Given the description of an element on the screen output the (x, y) to click on. 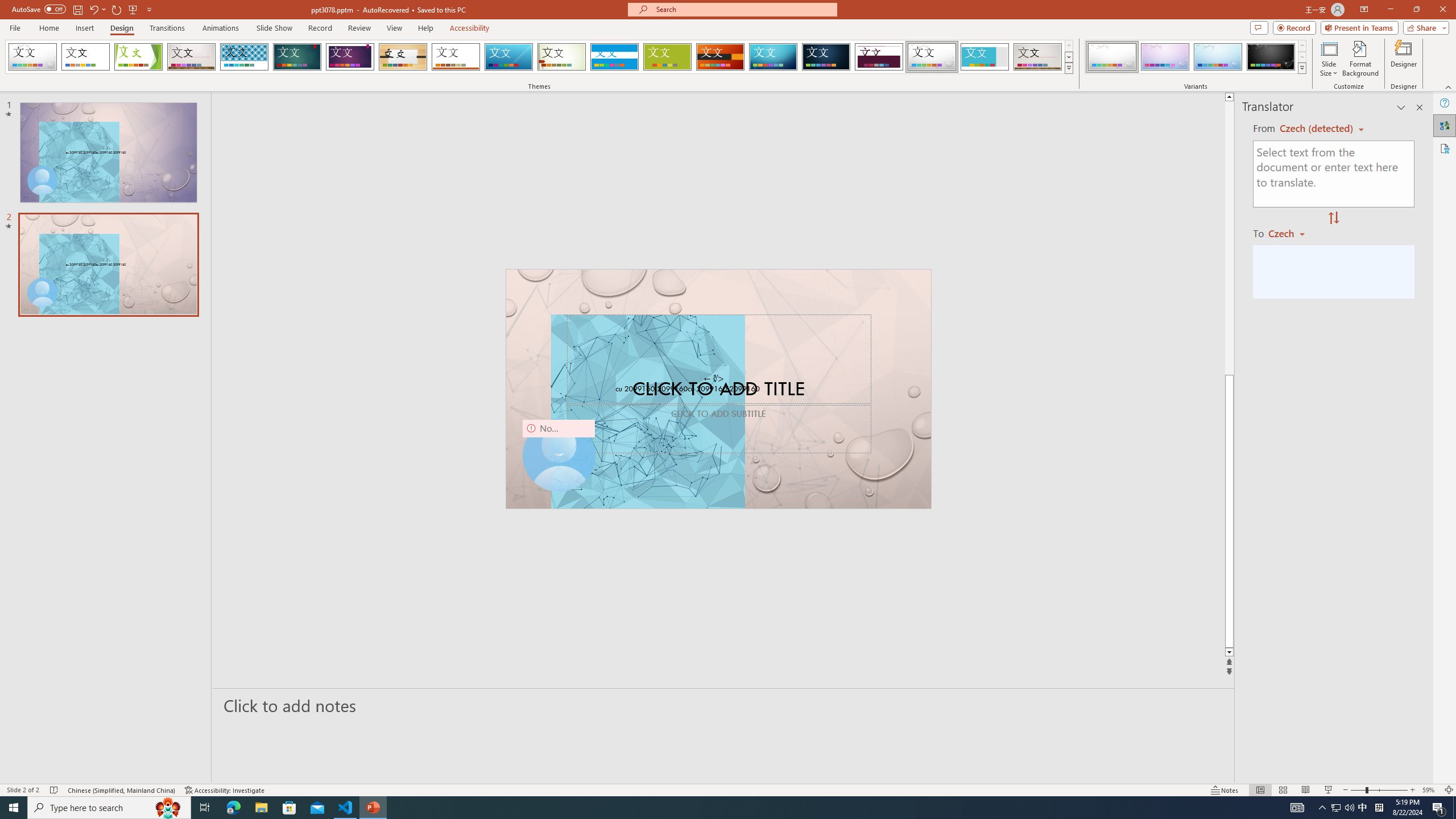
Droplet Variant 1 (1112, 56)
Dividend (879, 56)
TextBox 61 (717, 389)
Basis (667, 56)
Camera 9, No camera detected. (558, 455)
Office Theme (85, 56)
